Given the description of an element on the screen output the (x, y) to click on. 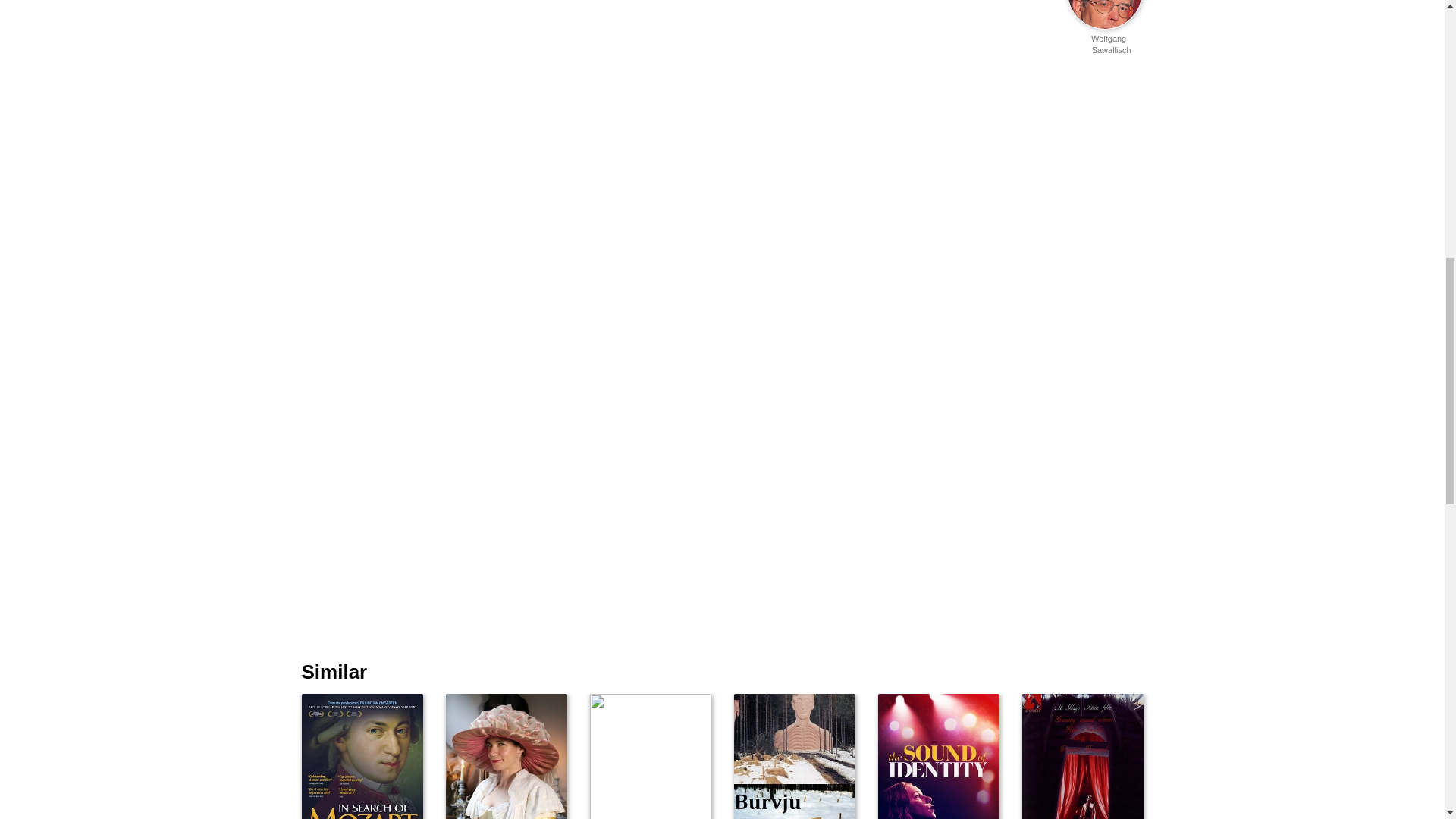
Wolfgang Sawallisch (526, 756)
